Given the description of an element on the screen output the (x, y) to click on. 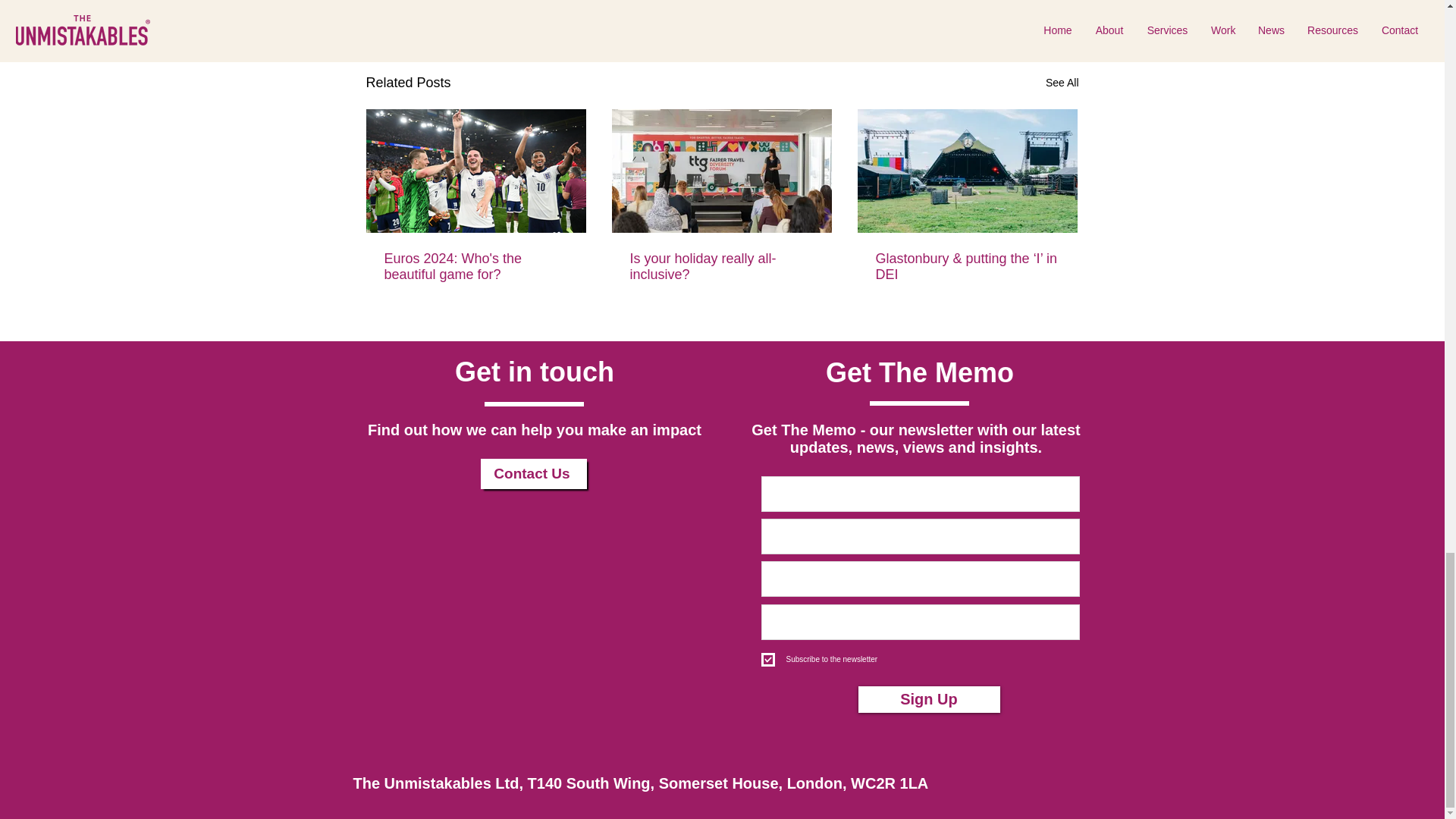
Sign Up (929, 699)
Is your holiday really all-inclusive? (720, 266)
Contact Us (533, 473)
See All (1061, 83)
Euros 2024: Who's the beautiful game for? (475, 266)
